Given the description of an element on the screen output the (x, y) to click on. 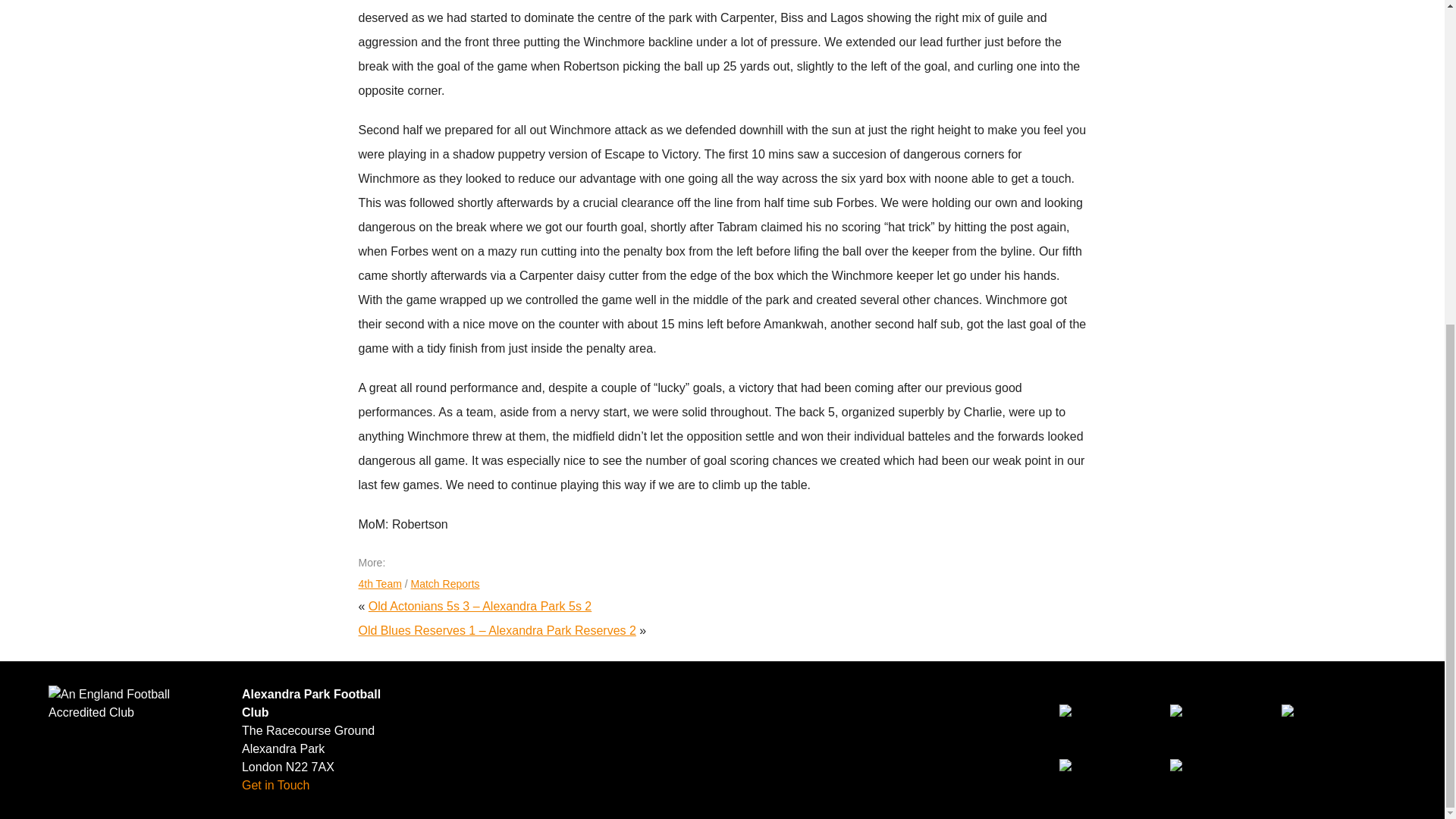
An England Football Accredited Club (136, 703)
Get in Touch (275, 784)
4th Team (379, 583)
Match Reports (445, 583)
